Given the description of an element on the screen output the (x, y) to click on. 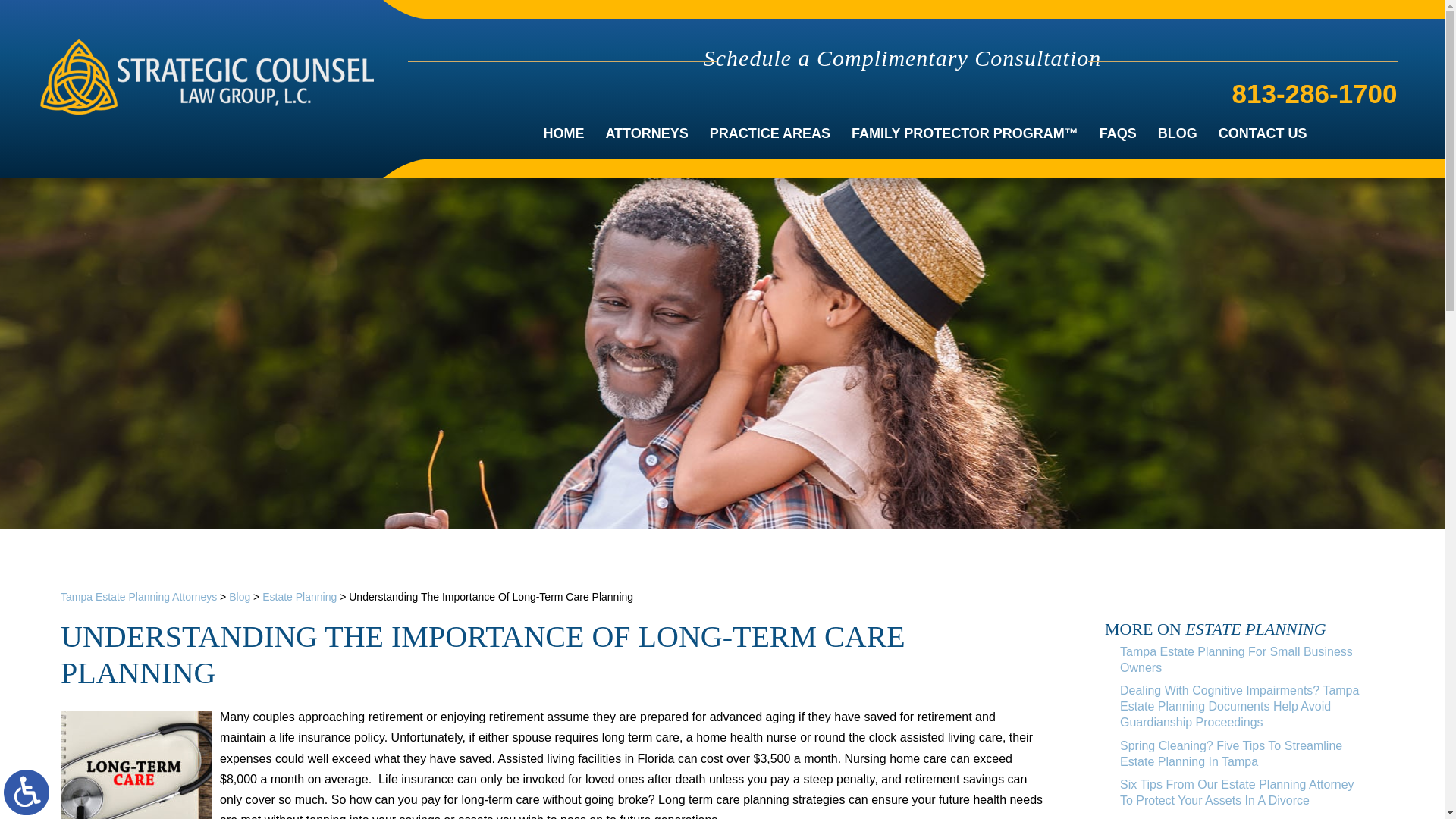
ATTORNEYS (646, 133)
Switch to ADA Accessible Theme (26, 791)
LongTerm3 (136, 764)
HOME (563, 133)
813-286-1700 (1314, 91)
PRACTICE AREAS (769, 133)
